Given the description of an element on the screen output the (x, y) to click on. 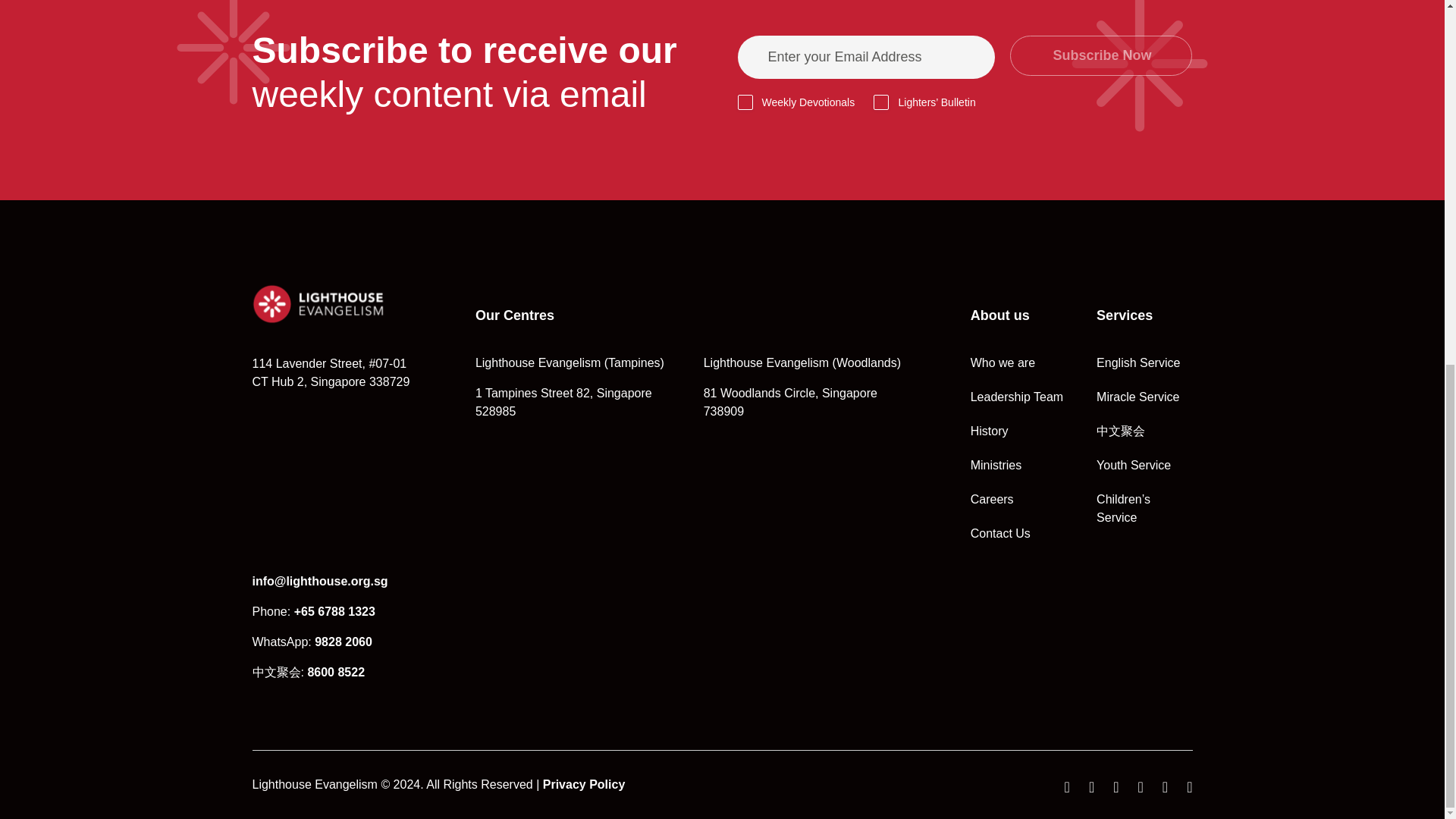
1 (880, 102)
Logo (317, 302)
Subscribe Now (1101, 56)
1 (744, 102)
